Given the description of an element on the screen output the (x, y) to click on. 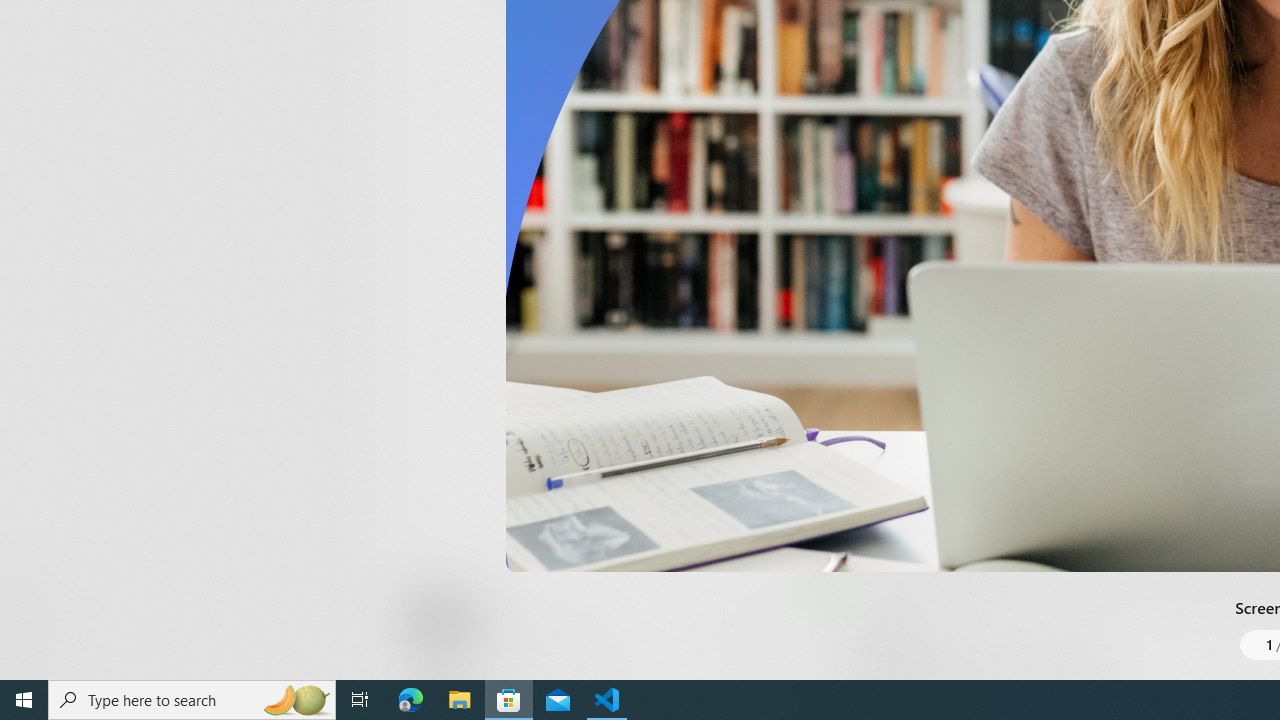
Show all ratings and reviews (838, 454)
Age rating: TEEN. Click for more information. (488, 619)
Social (579, 23)
Share (746, 632)
Show more (854, 31)
